Given the description of an element on the screen output the (x, y) to click on. 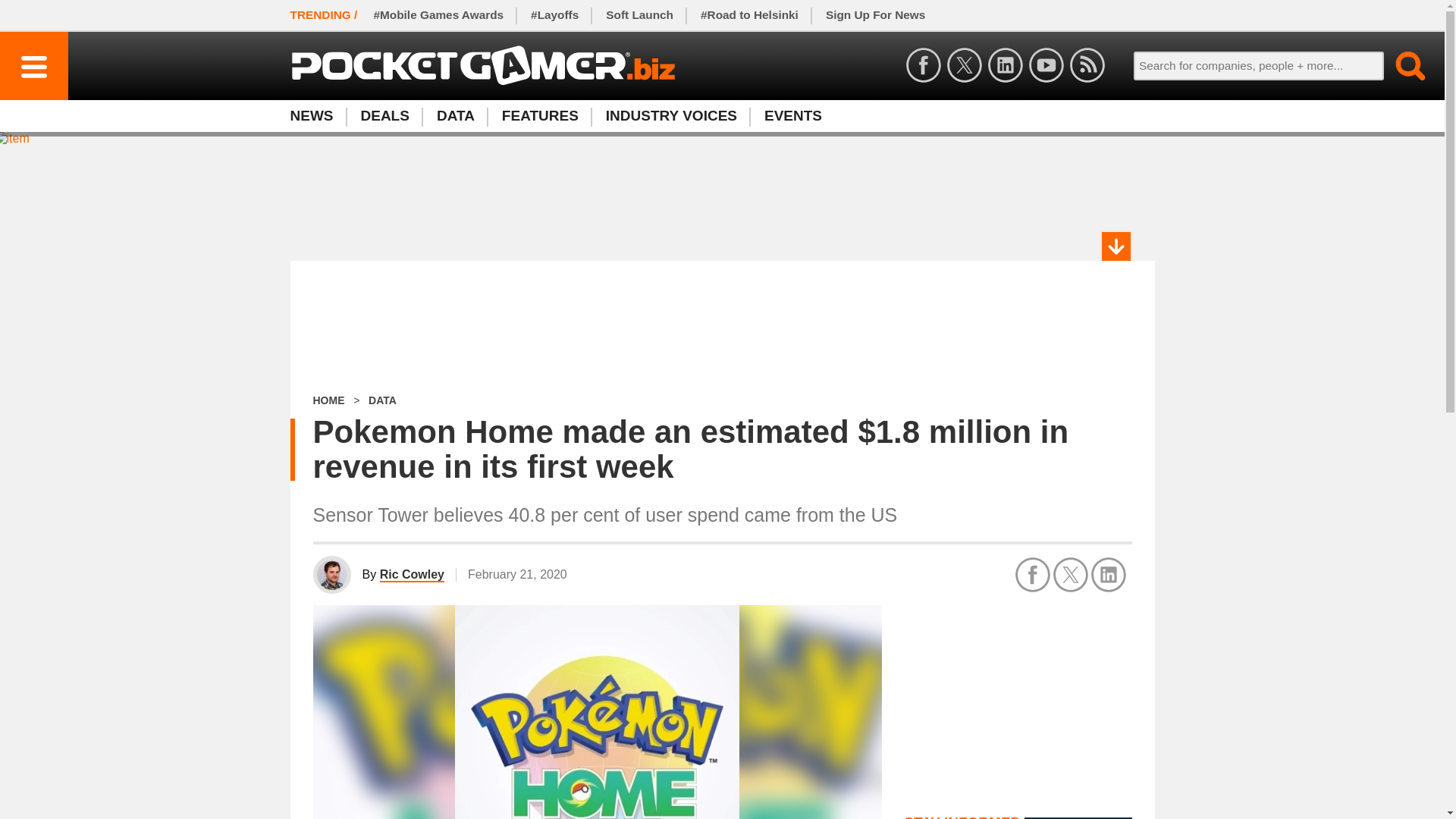
Go (1402, 65)
HOME (328, 400)
DATA (382, 400)
INDUSTRY VOICES (671, 115)
FEATURES (721, 115)
NEWS (539, 115)
Go (317, 115)
Sign Up For News (1402, 65)
DATA (875, 15)
Soft Launch (455, 115)
EVENTS (639, 15)
DEALS (793, 115)
Ric Cowley (385, 115)
